Given the description of an element on the screen output the (x, y) to click on. 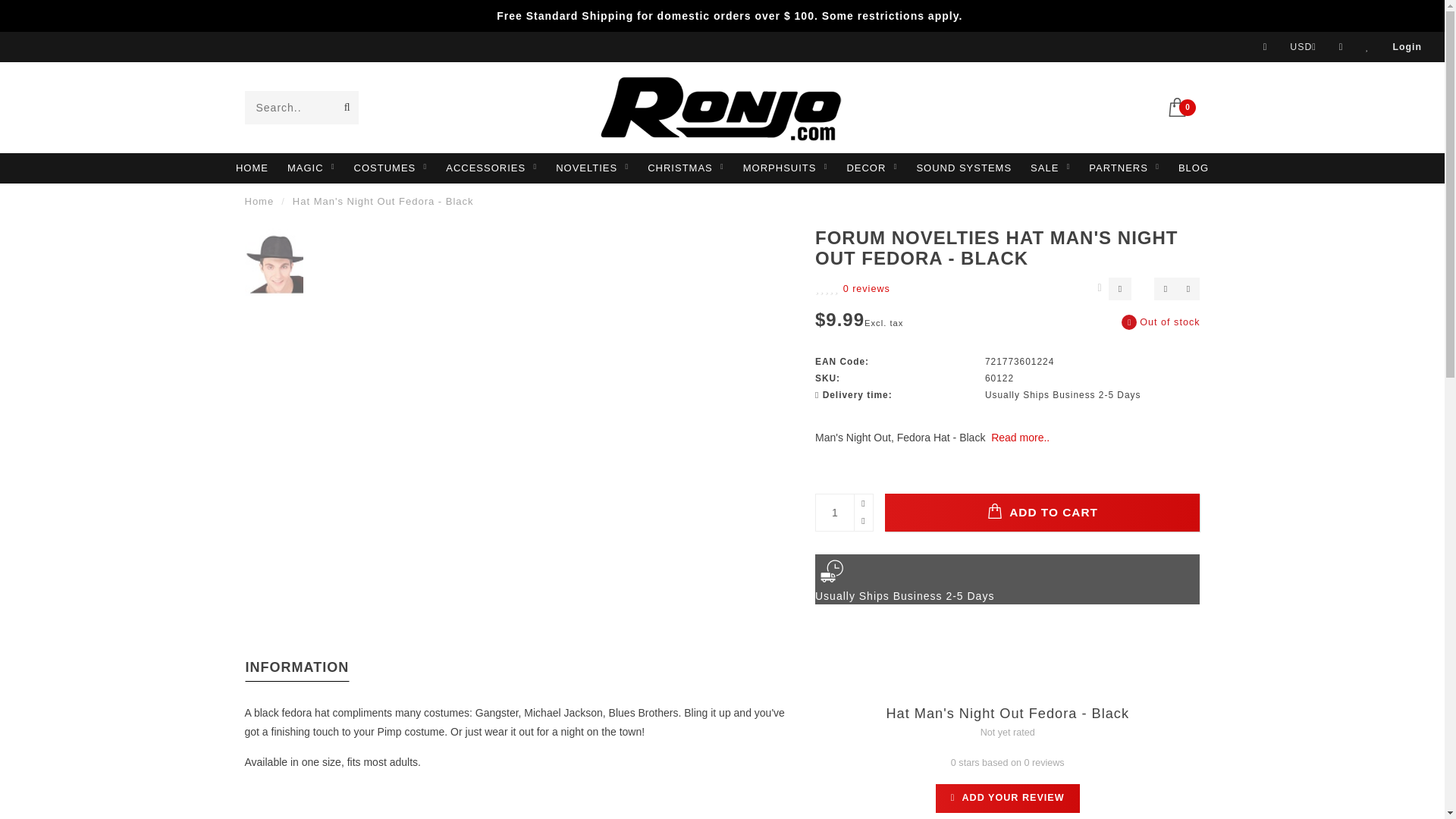
Add to compare (1187, 288)
Add your review (1008, 798)
0 (1183, 105)
Home (258, 201)
MAGIC (310, 168)
HOME (251, 168)
1 (843, 512)
Add to wishlist (1165, 288)
Login (1406, 46)
